Given the description of an element on the screen output the (x, y) to click on. 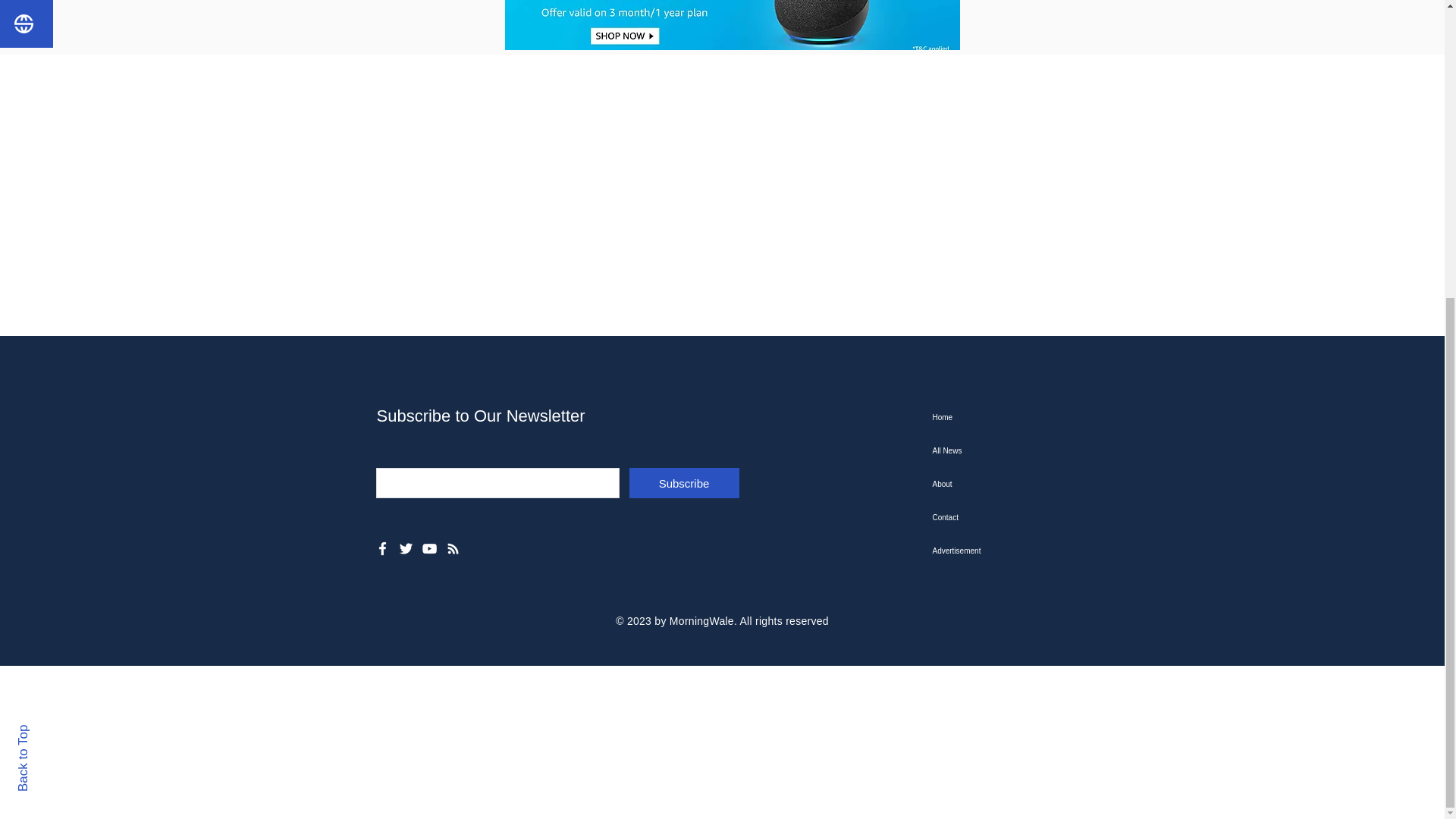
Home (1009, 417)
Contact (1009, 517)
Advertisement (1009, 551)
Back to Top (49, 270)
Subscribe (683, 482)
About (1009, 484)
All News (1009, 450)
